Given the description of an element on the screen output the (x, y) to click on. 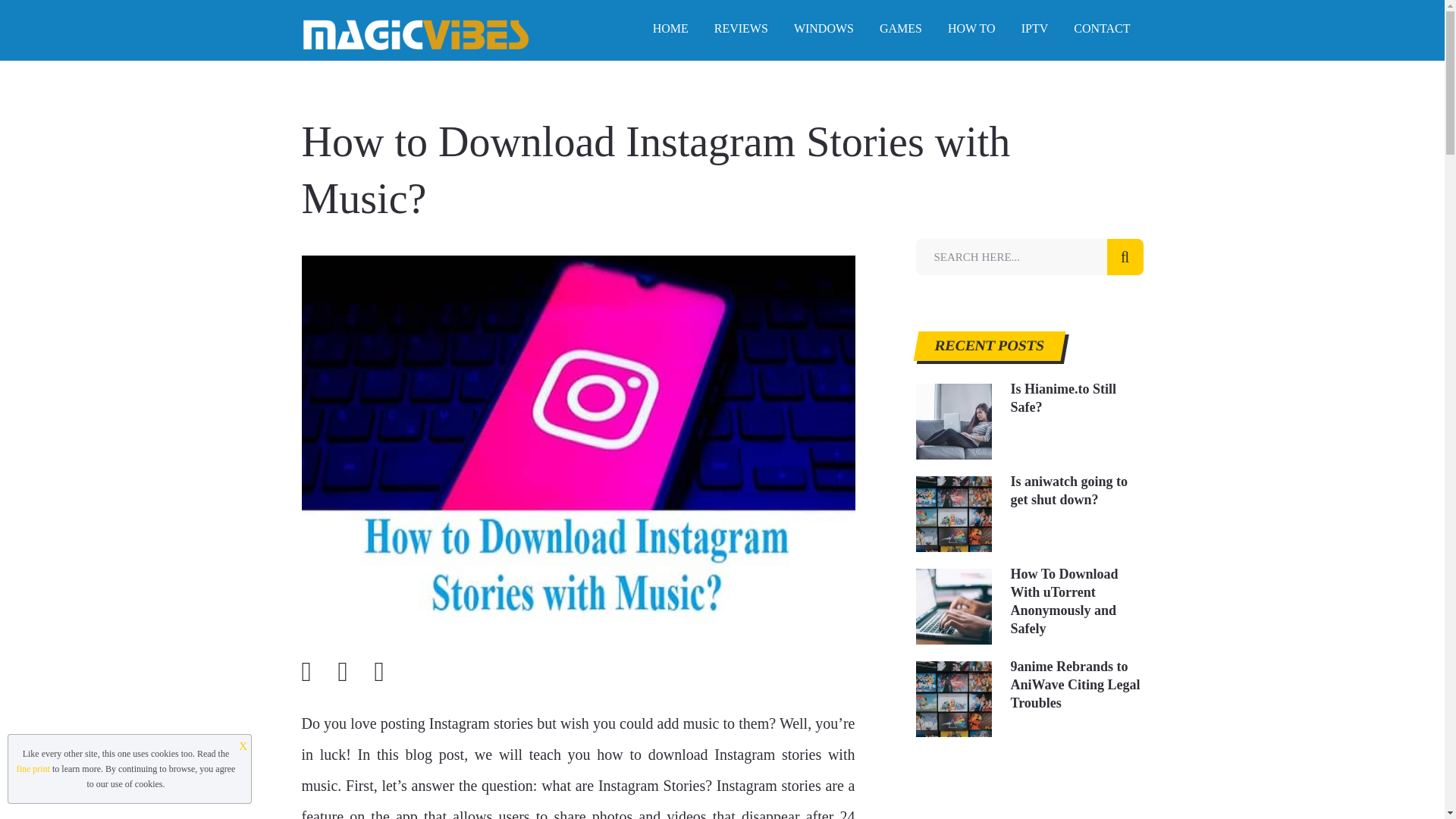
WINDOWS (823, 29)
Is Hianime.to Still Safe? (953, 421)
HOW TO (971, 29)
How To Download With uTorrent Anonymously and Safely (1028, 601)
IPTV (1035, 29)
GAMES (900, 29)
Is Hianime.to Still Safe? (1028, 398)
Is Hianime.to Still Safe? (1028, 398)
HOME (670, 29)
REVIEWS (740, 29)
Is aniwatch going to get shut down? (1028, 490)
9anime Rebrands to AniWave Citing Legal Troubles (1028, 684)
CONTACT (1101, 29)
